Given the description of an element on the screen output the (x, y) to click on. 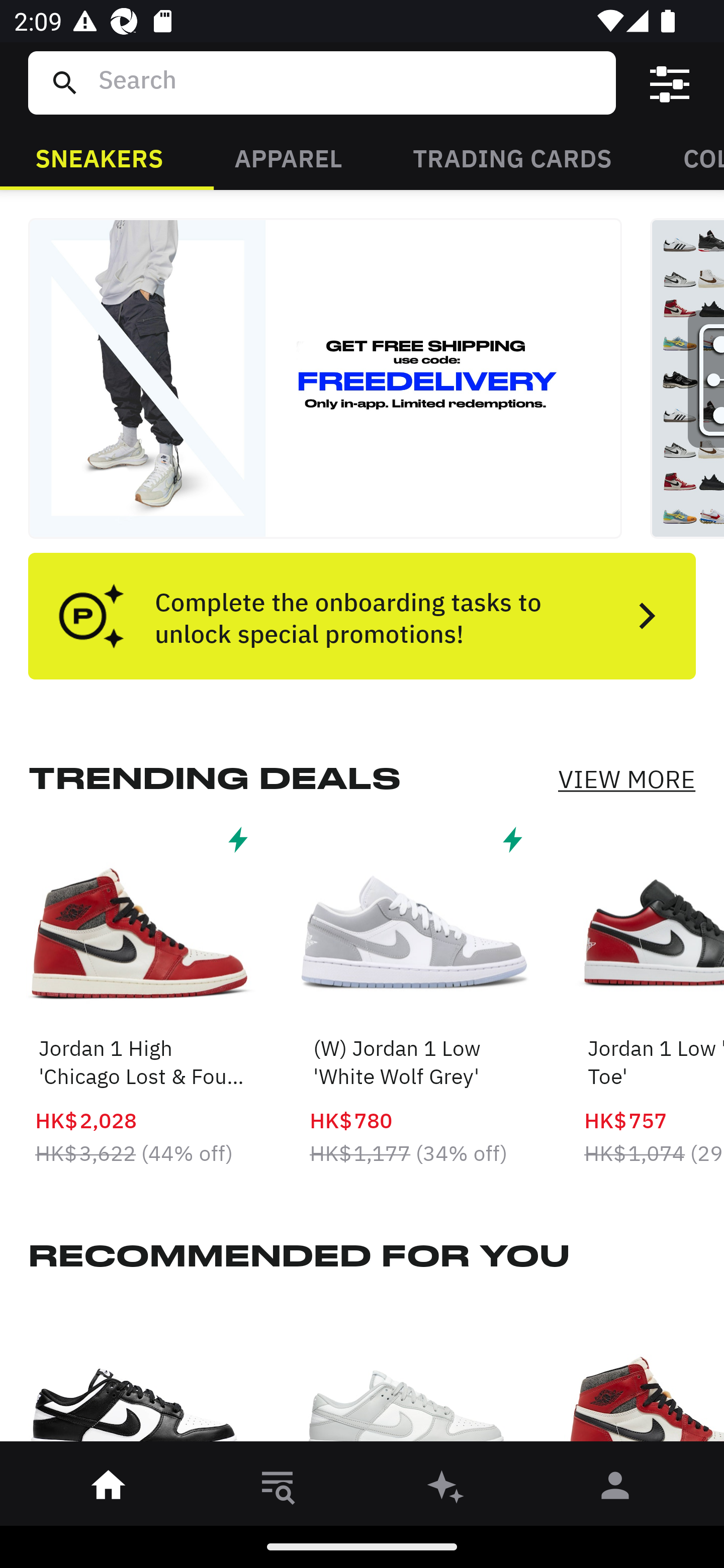
Search (349, 82)
 (669, 82)
SNEAKERS (99, 156)
APPAREL (287, 156)
TRADING CARDS (512, 156)
VIEW MORE (626, 779)
󰋜 (108, 1488)
󱎸 (277, 1488)
󰫢 (446, 1488)
󰀄 (615, 1488)
